Given the description of an element on the screen output the (x, y) to click on. 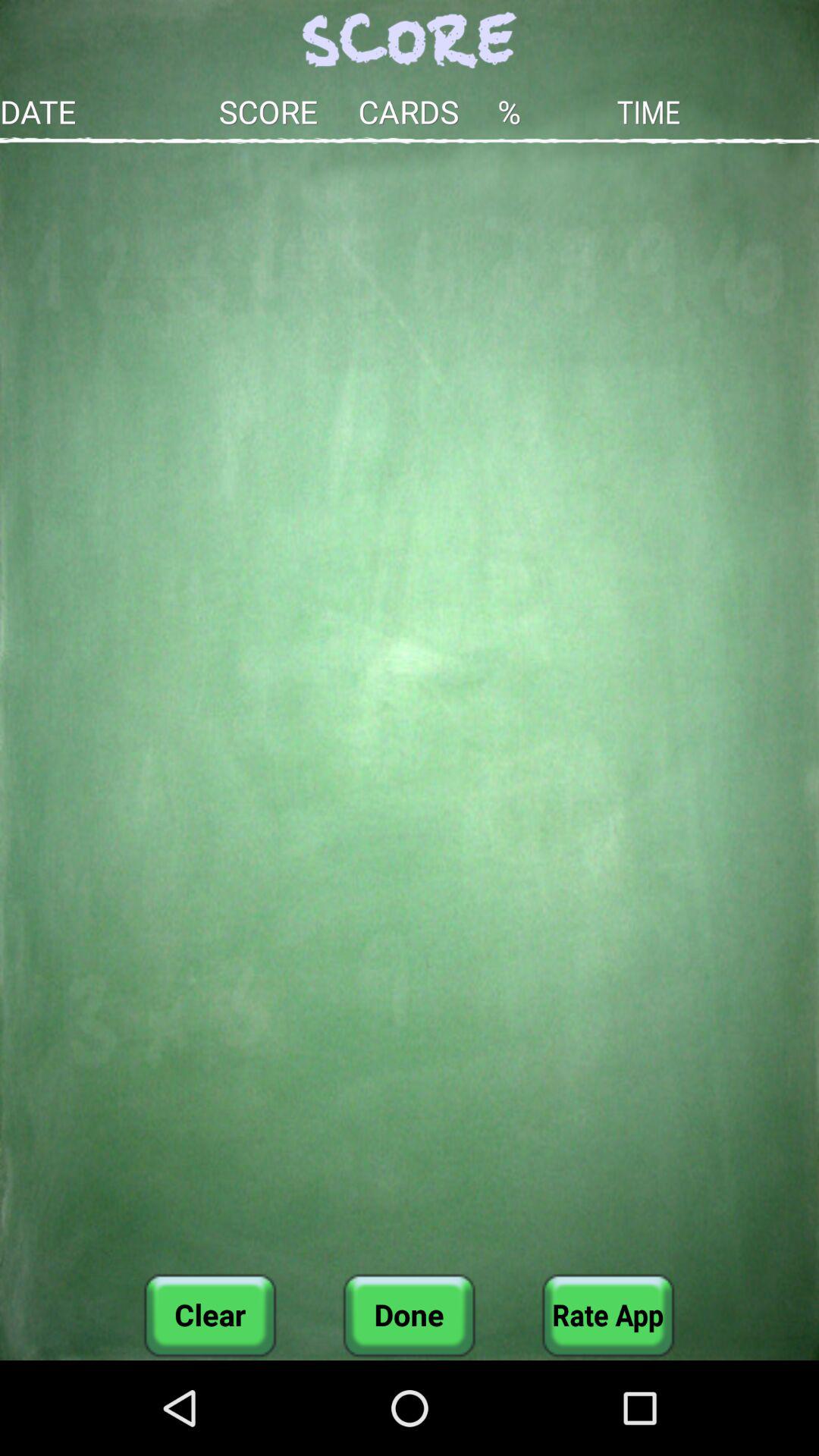
tap icon next to done (209, 1315)
